Given the description of an element on the screen output the (x, y) to click on. 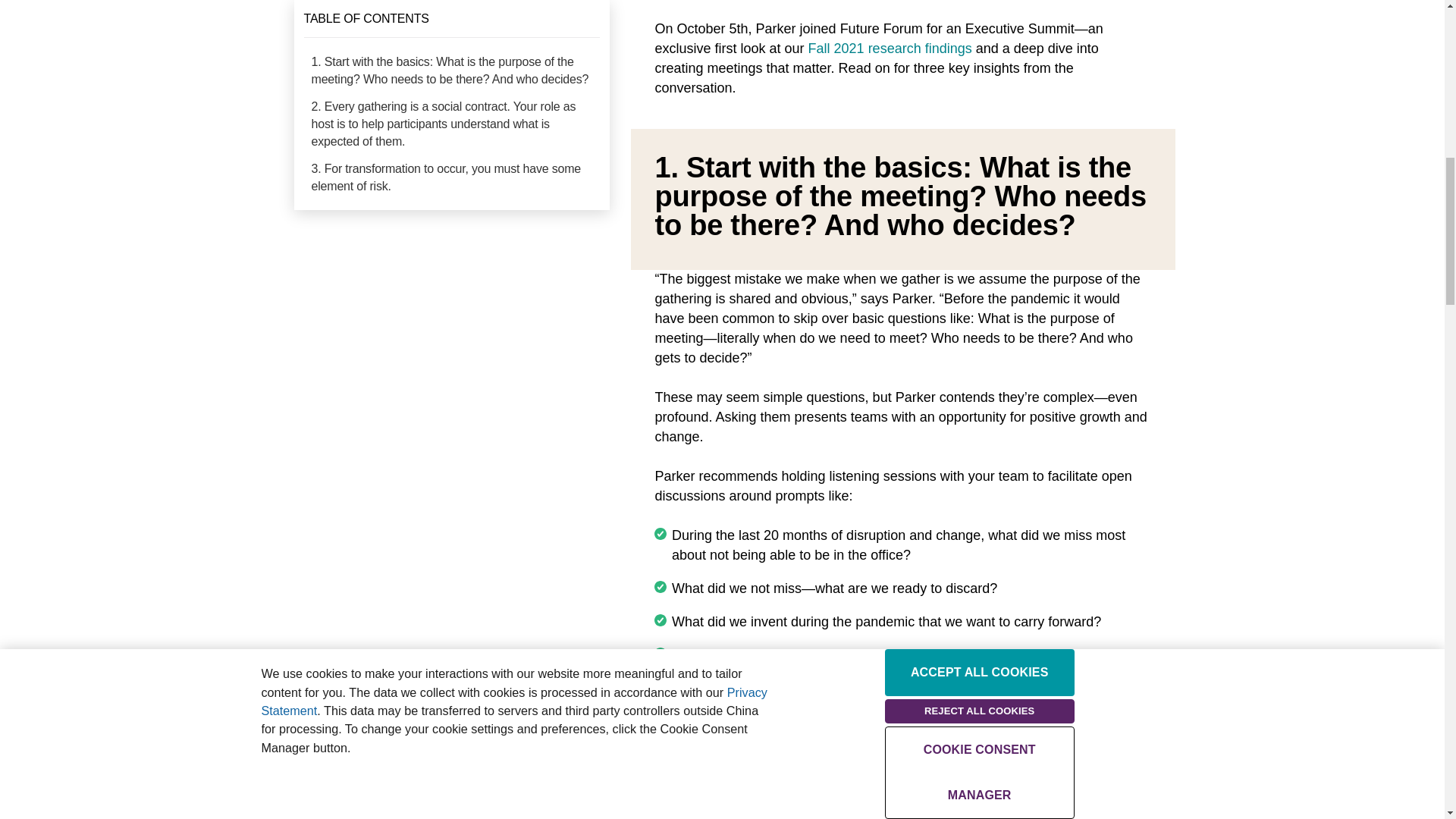
tool for assessing when to hold an in- (892, 724)
person (791, 733)
Fall 2021 research findings (890, 48)
meeting (838, 733)
